Given the description of an element on the screen output the (x, y) to click on. 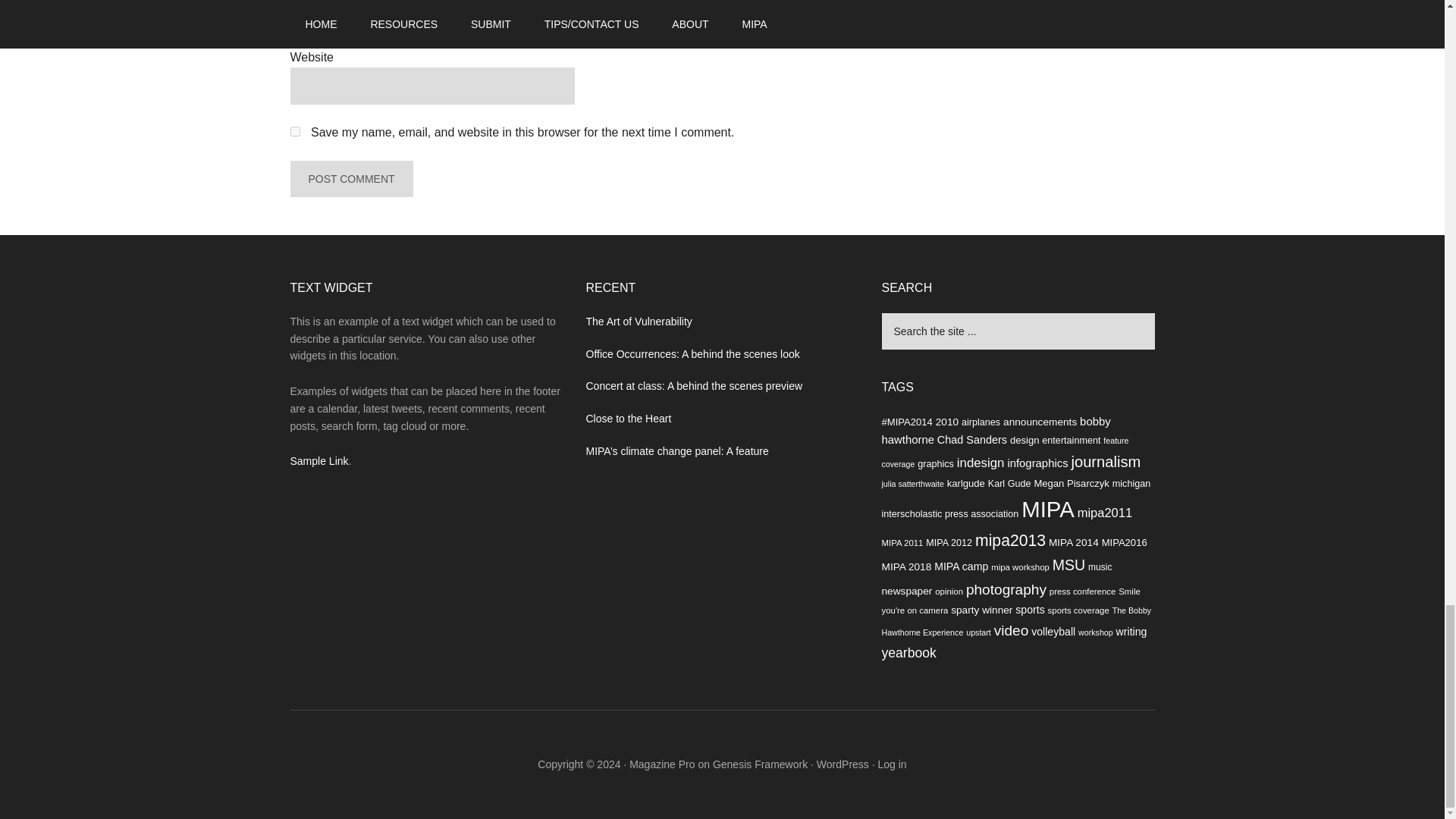
Post Comment (350, 178)
yes (294, 131)
